Given the description of an element on the screen output the (x, y) to click on. 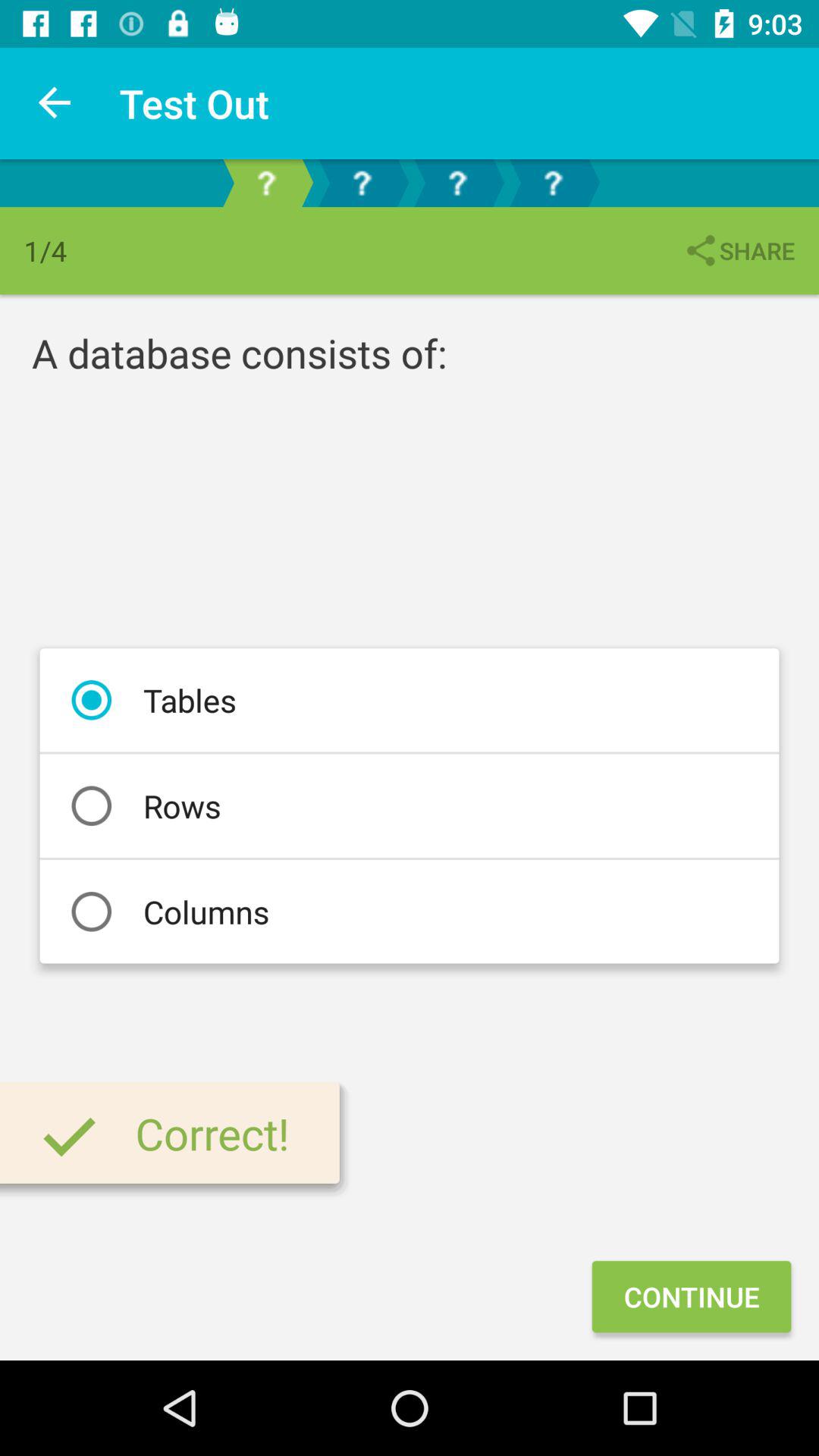
help (552, 183)
